Given the description of an element on the screen output the (x, y) to click on. 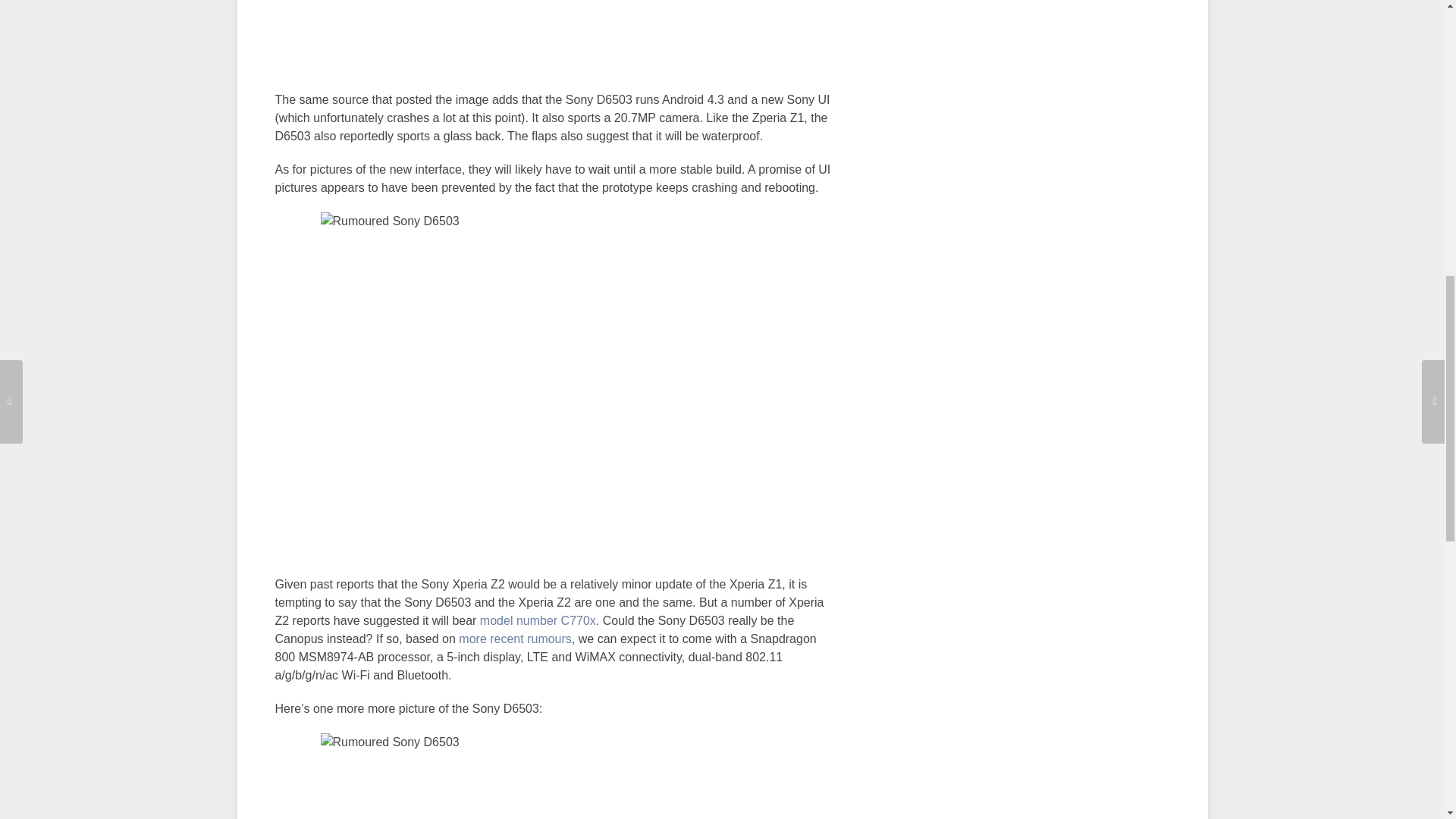
model number C770x (537, 620)
more recent rumours (515, 638)
